Given the description of an element on the screen output the (x, y) to click on. 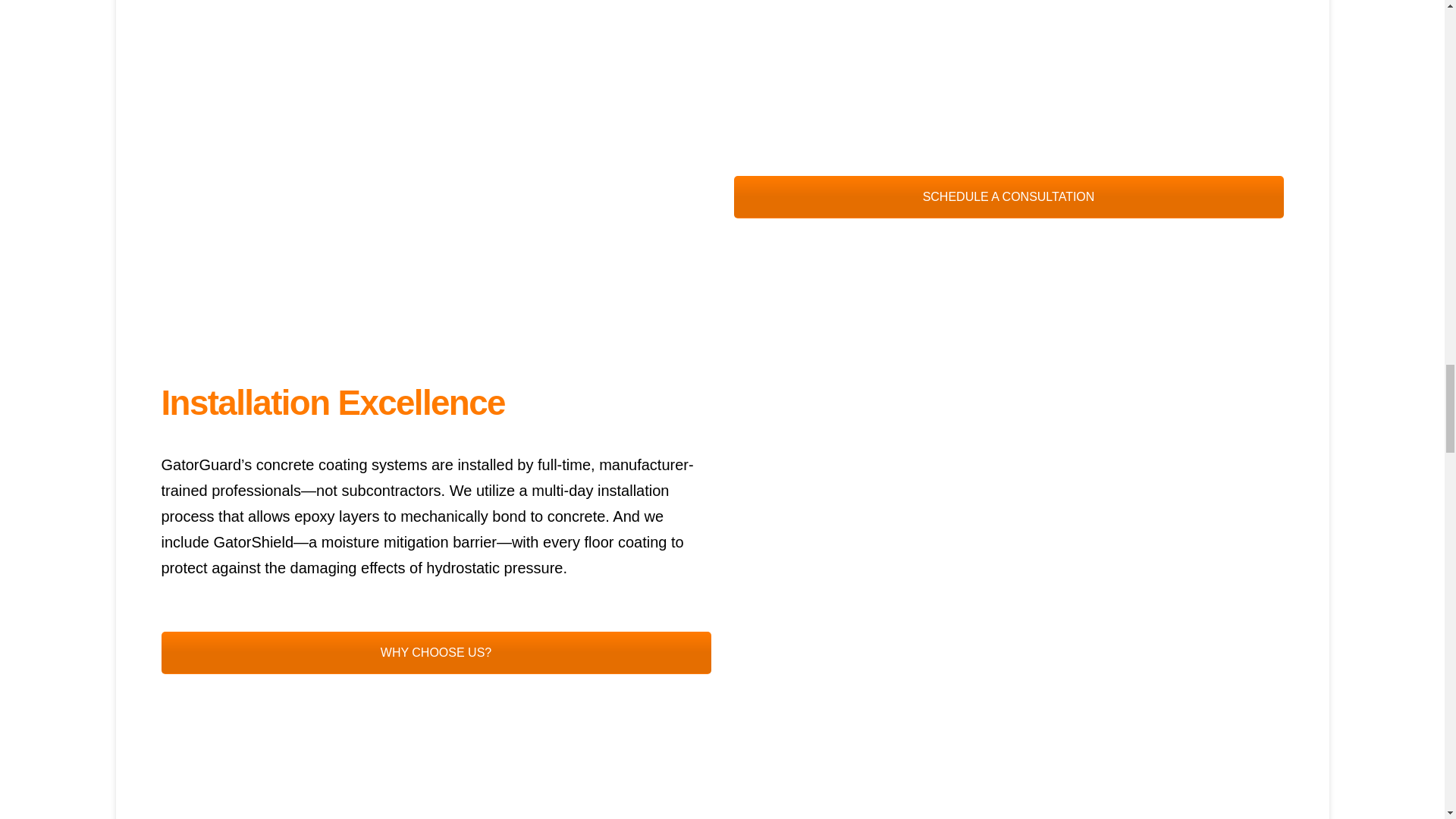
Free Estimate (1008, 197)
Free Estimate (435, 652)
SCHEDULE A CONSULTATION (1008, 197)
